Given the description of an element on the screen output the (x, y) to click on. 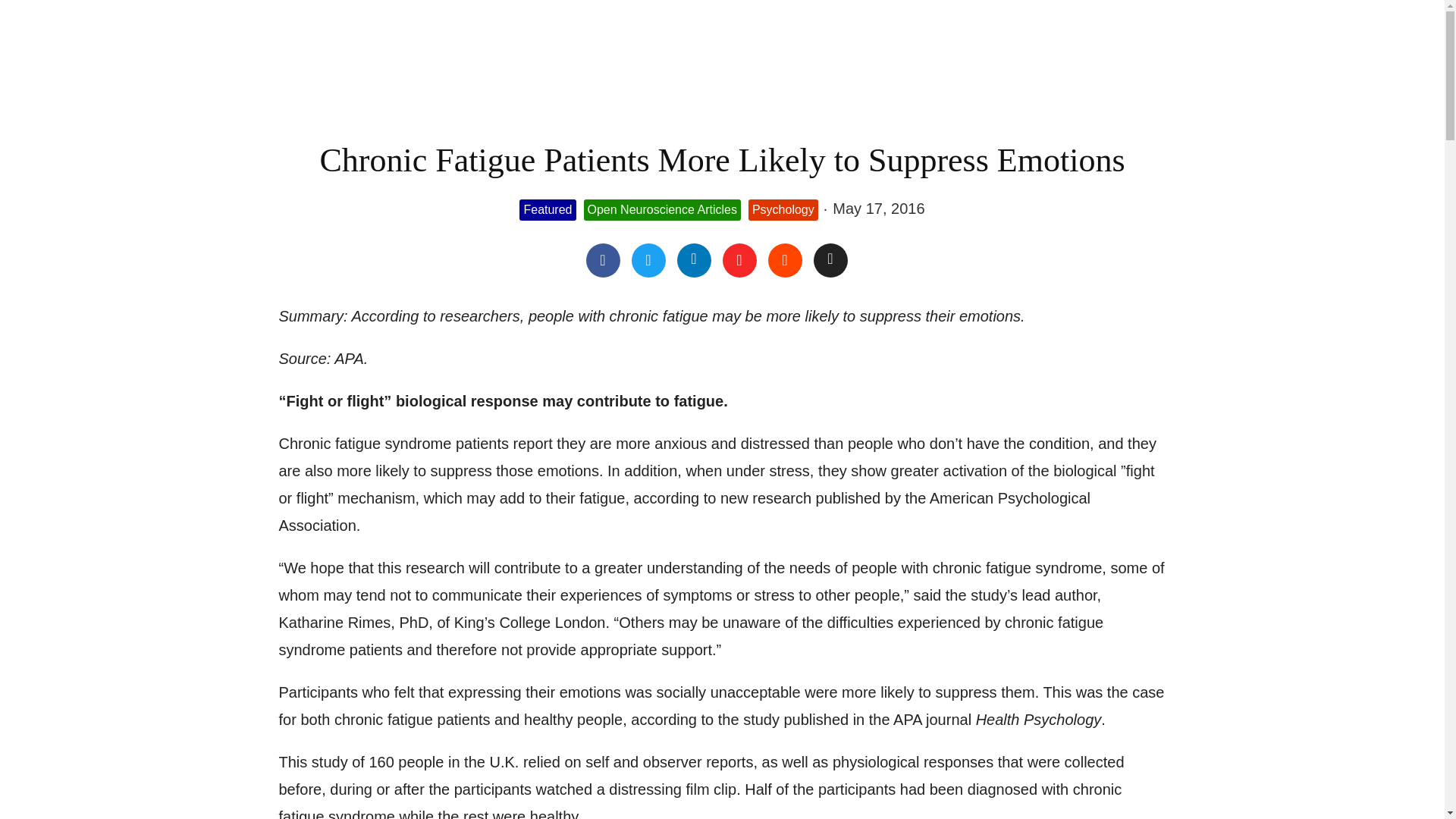
Featured (547, 210)
Open Neuroscience Articles (662, 210)
Psychology (783, 210)
